Given the description of an element on the screen output the (x, y) to click on. 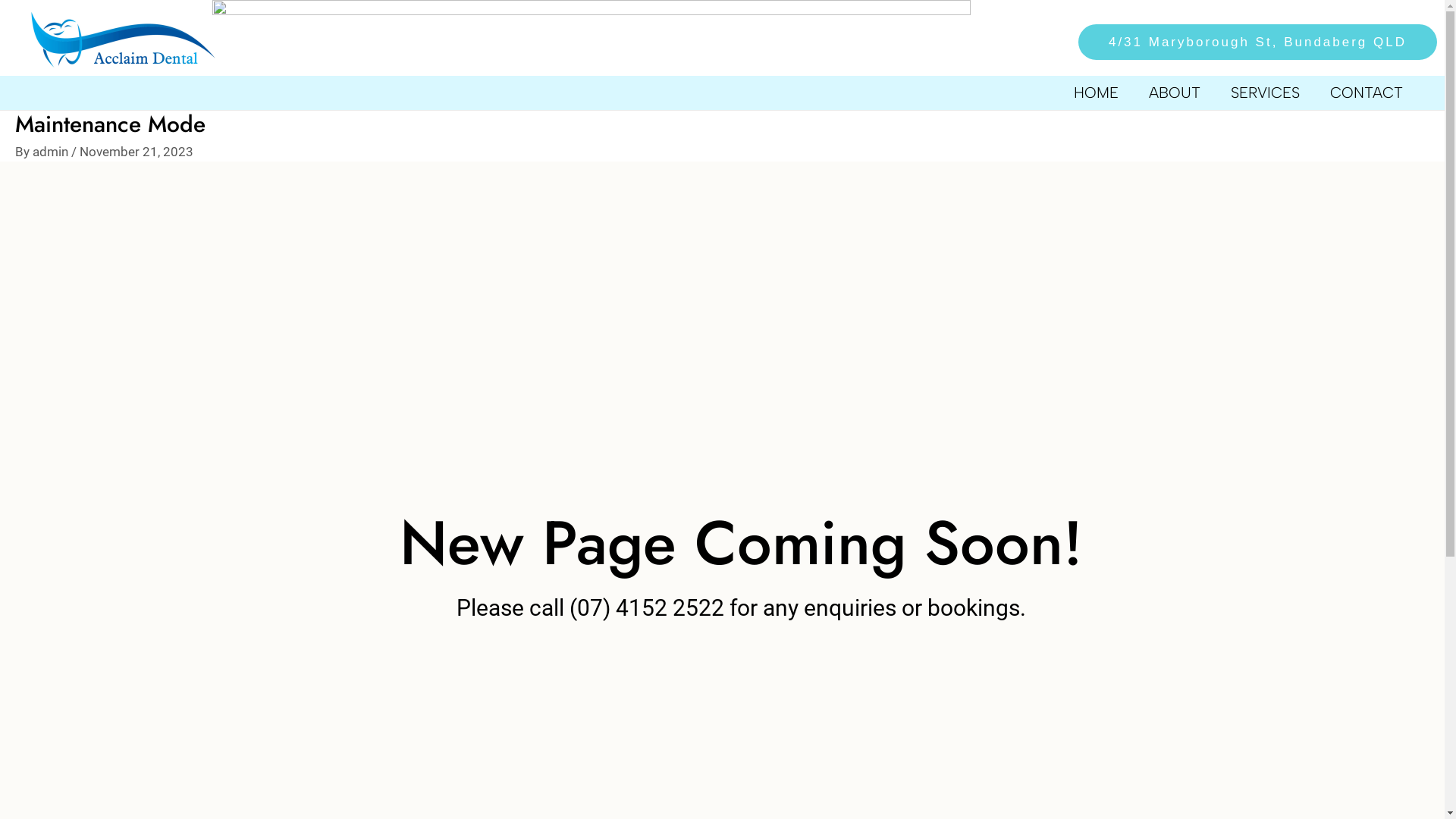
ABOUT Element type: text (1174, 92)
4/31 Maryborough St, Bundaberg QLD Element type: text (1248, 41)
admin Element type: text (51, 151)
CONTACT Element type: text (1366, 92)
HOME Element type: text (1095, 92)
SERVICES Element type: text (1264, 92)
